Given the description of an element on the screen output the (x, y) to click on. 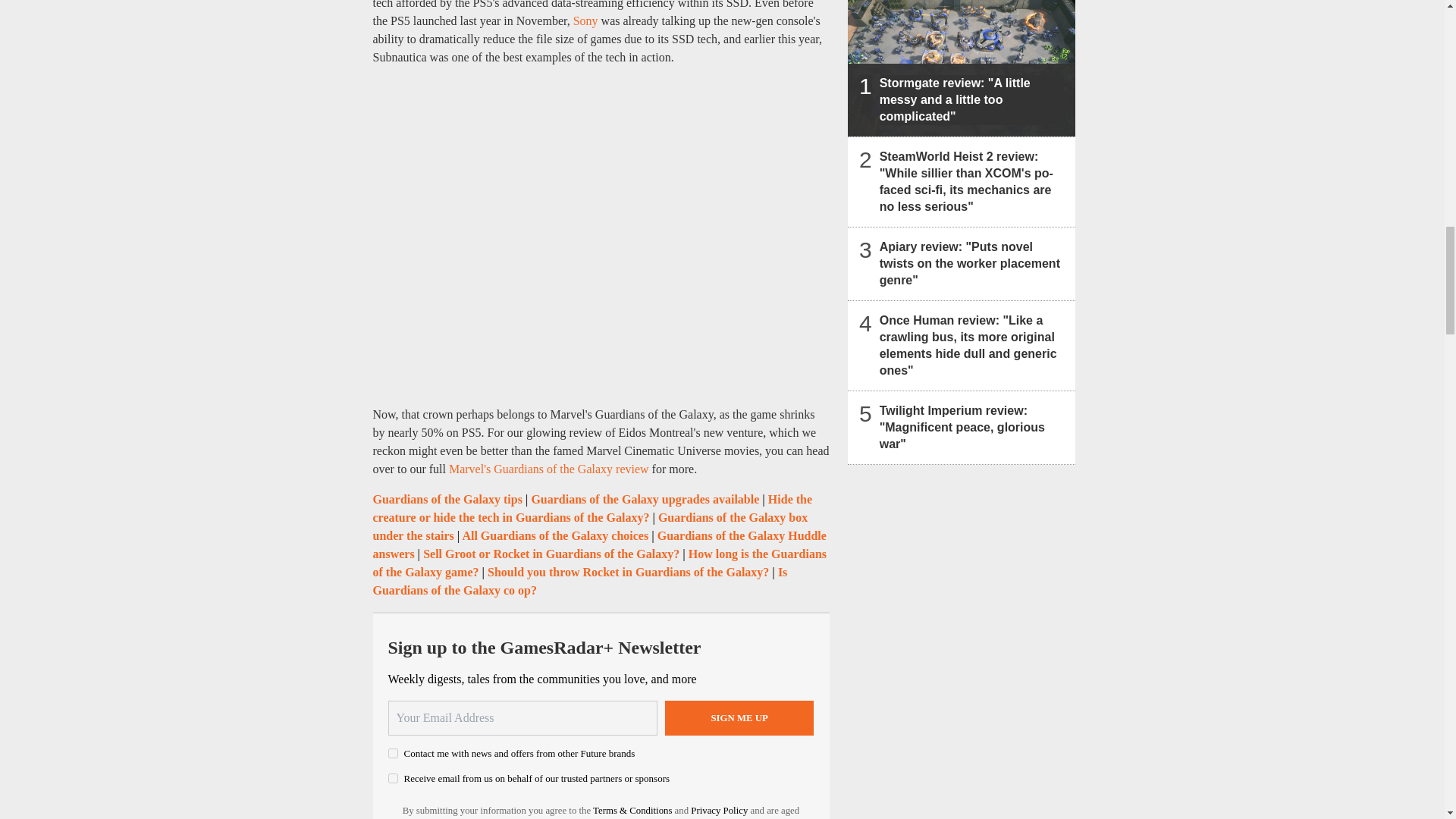
on (392, 753)
on (392, 777)
Sign me up (739, 718)
